Given the description of an element on the screen output the (x, y) to click on. 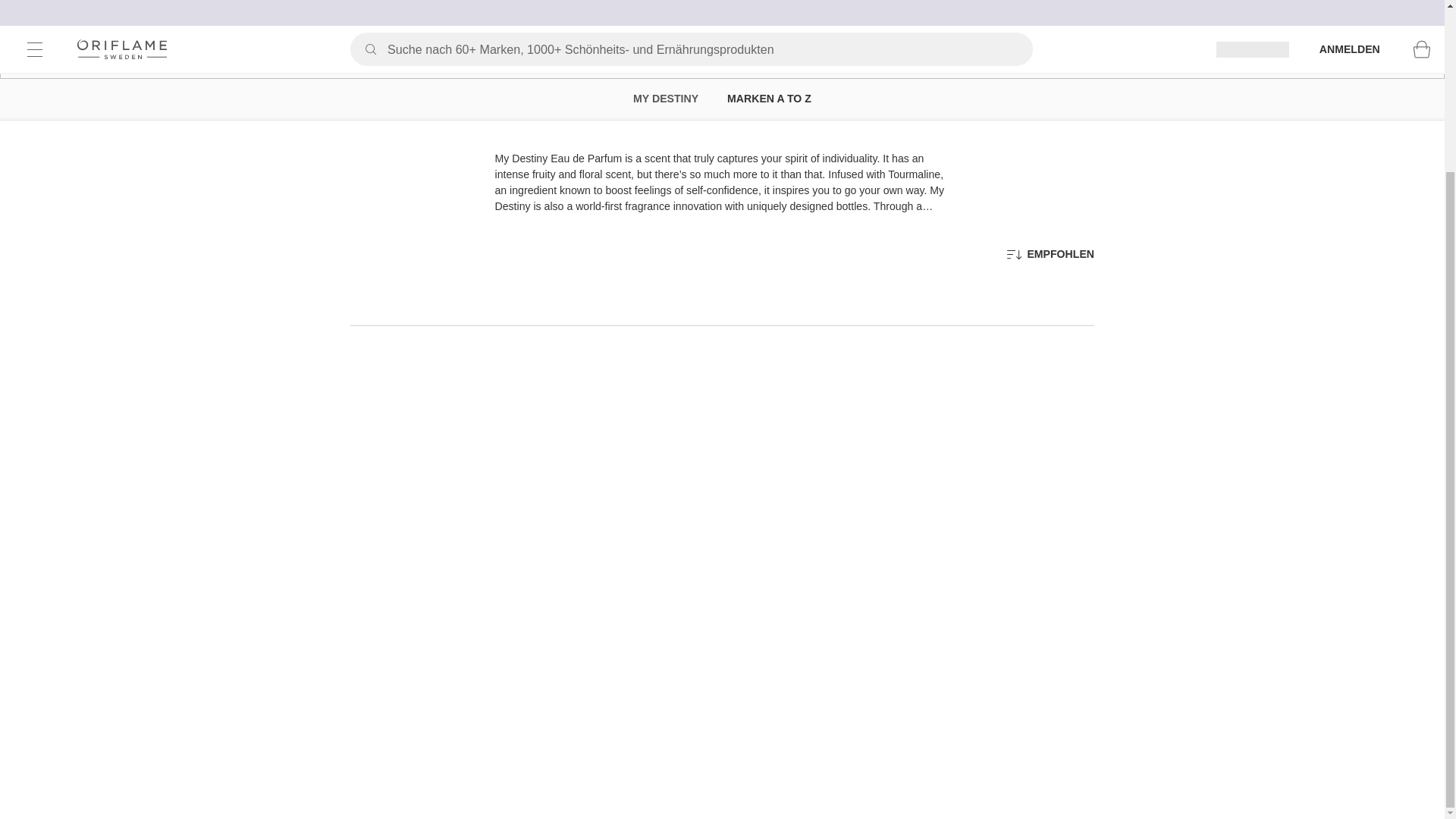
MY DESTINY (665, 98)
MARKEN A TO Z (768, 98)
